Given the description of an element on the screen output the (x, y) to click on. 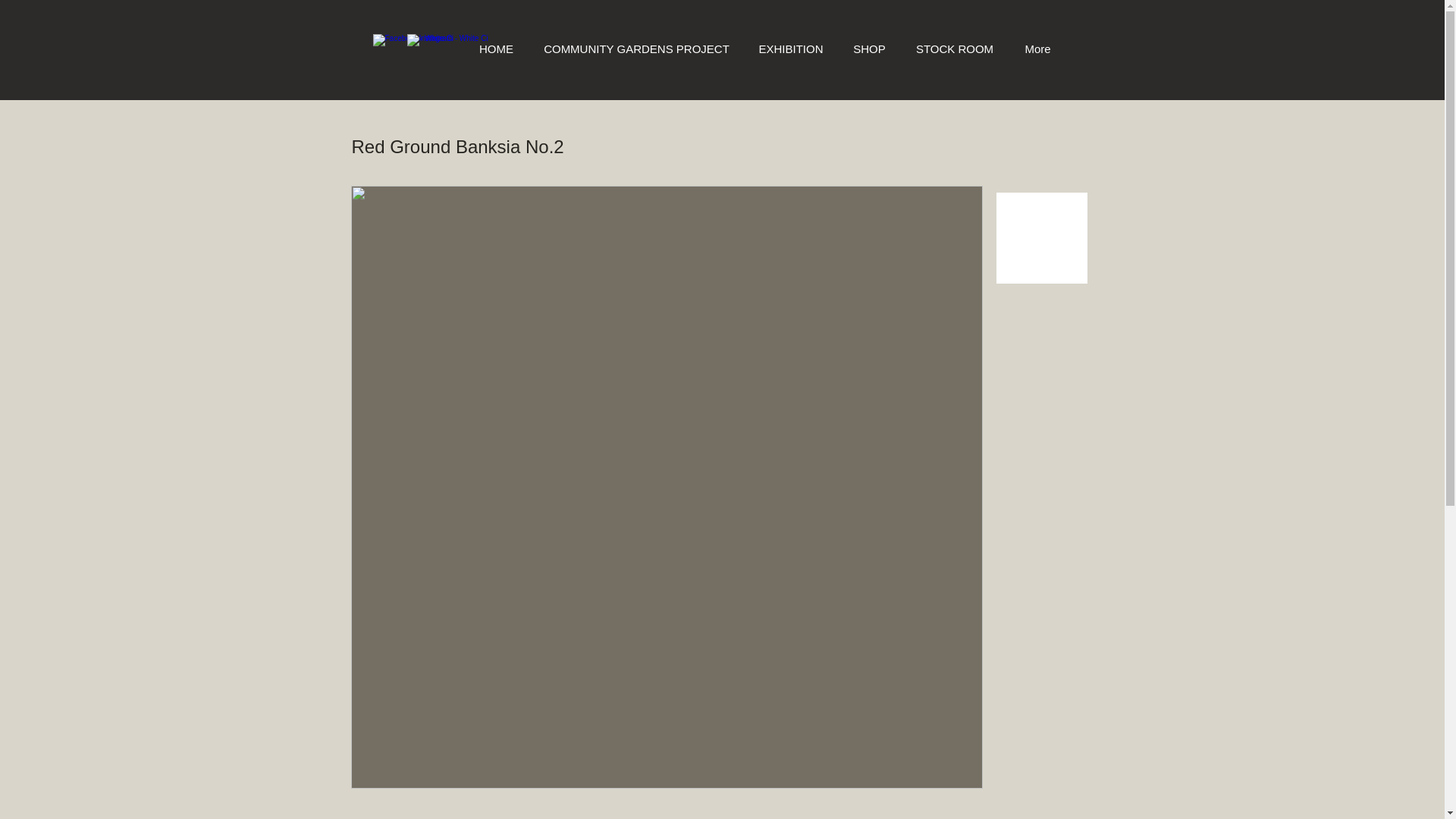
STOCK ROOM (955, 48)
SHOP (869, 48)
COMMUNITY GARDENS PROJECT (635, 48)
EXHIBITION (790, 48)
HOME (496, 48)
